Given the description of an element on the screen output the (x, y) to click on. 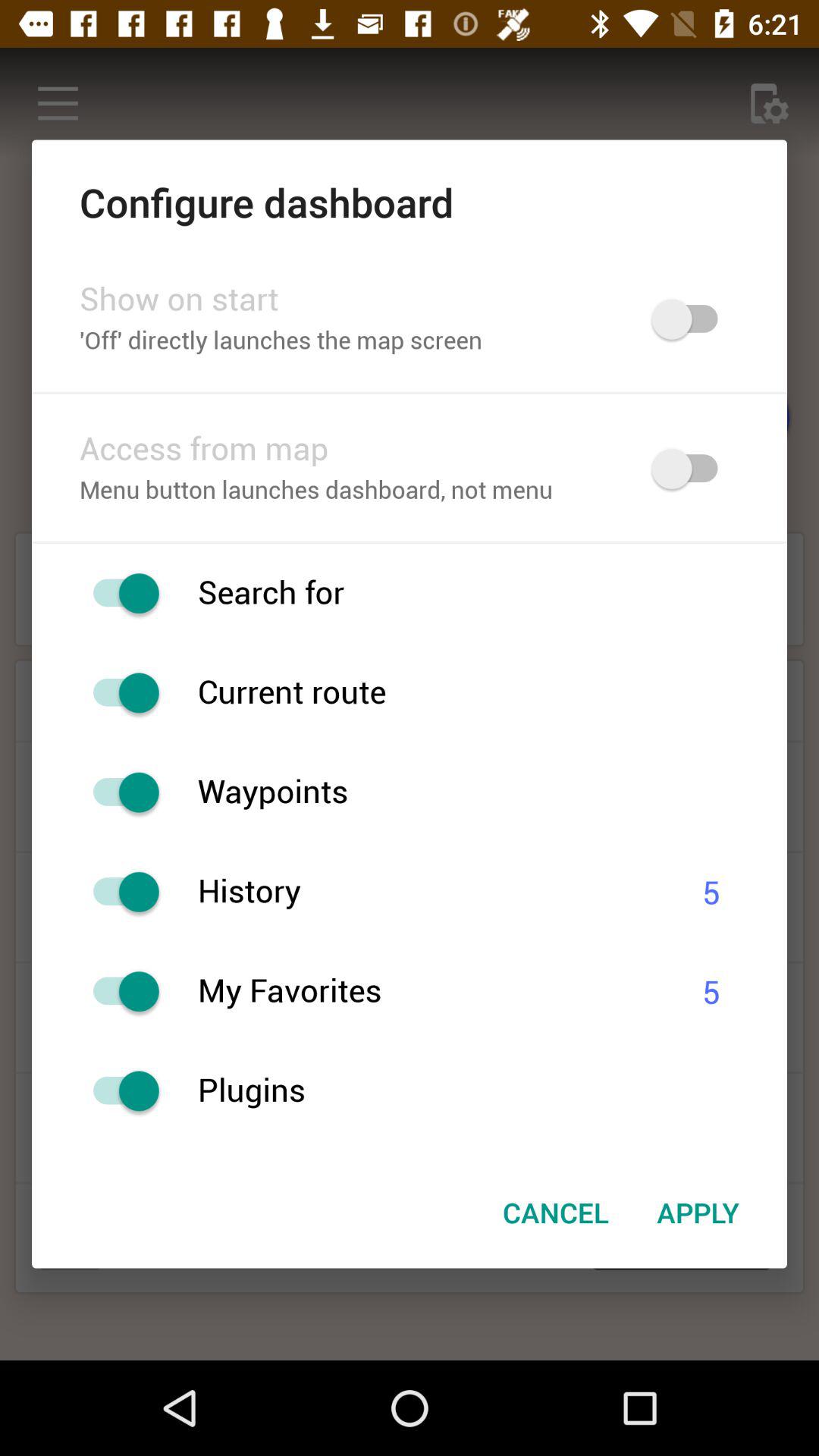
open the icon above search for item (409, 542)
